Given the description of an element on the screen output the (x, y) to click on. 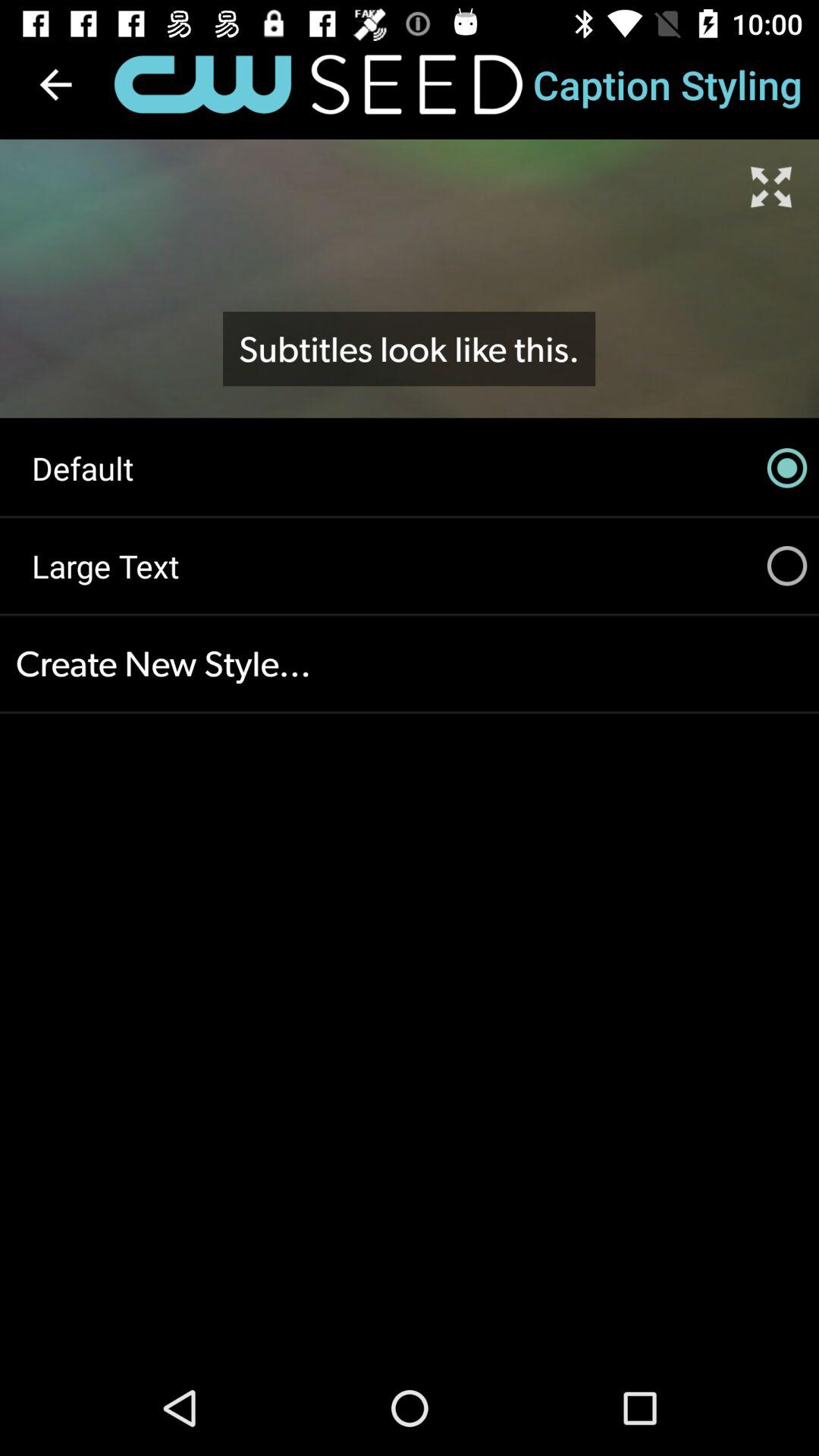
tap the icon below the default (409, 565)
